Given the description of an element on the screen output the (x, y) to click on. 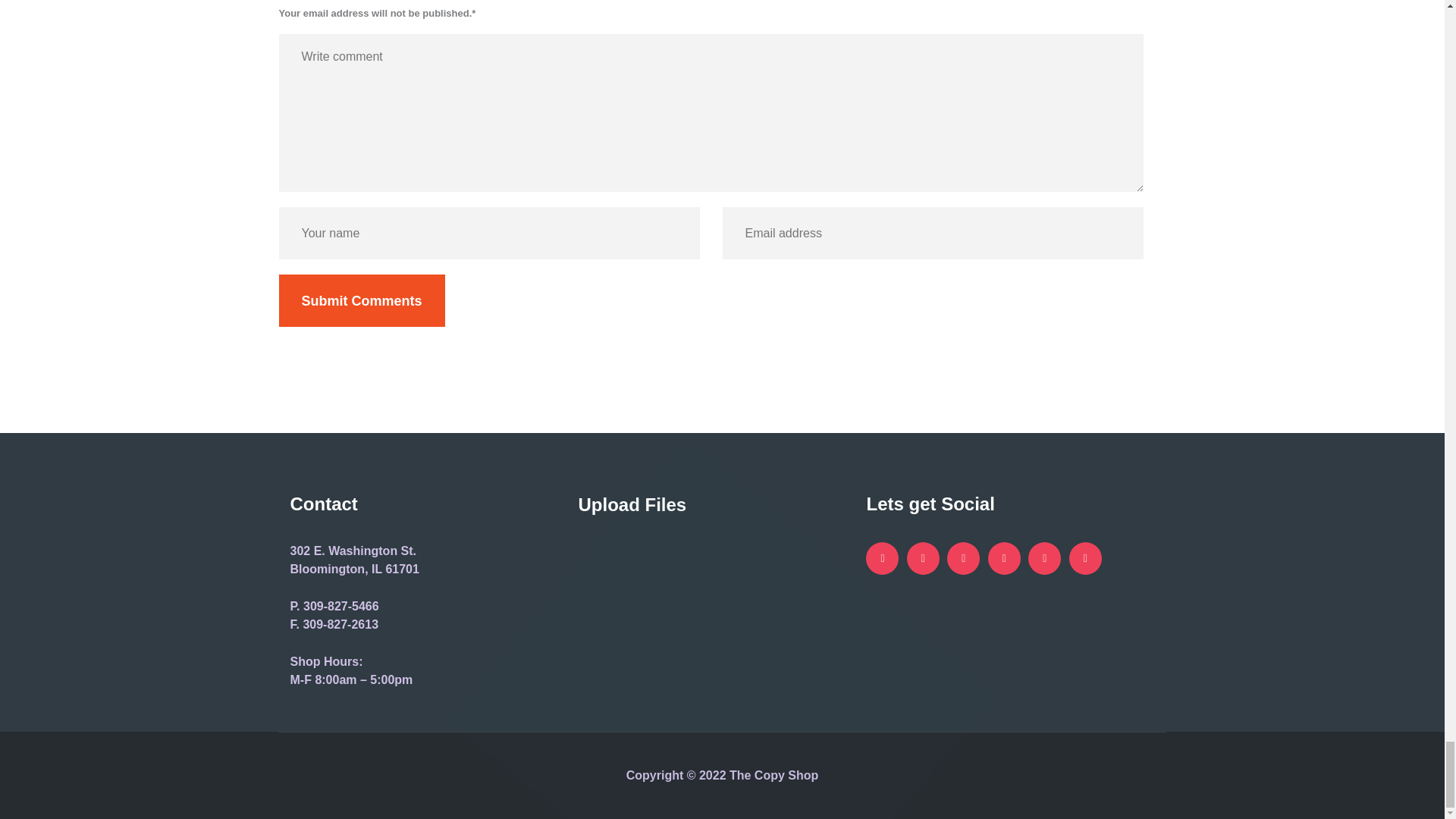
Submit Comments (362, 300)
